Given the description of an element on the screen output the (x, y) to click on. 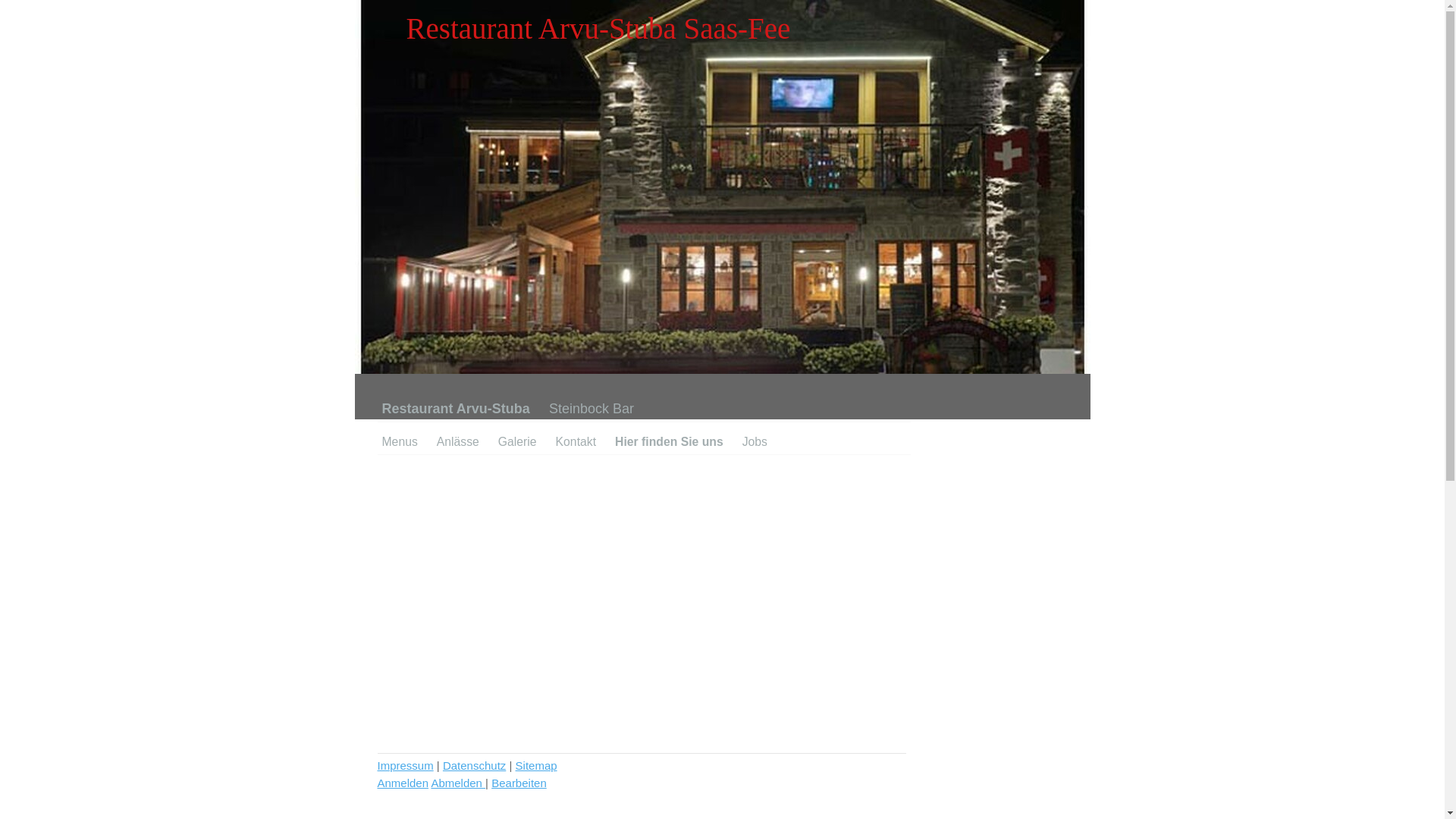
Galerie Element type: text (526, 437)
Jobs Element type: text (764, 437)
Menus Element type: text (409, 437)
Restaurant Arvu-Stuba Element type: text (465, 408)
Abmelden Element type: text (457, 782)
Sitemap Element type: text (536, 765)
Kontakt Element type: text (585, 437)
Steinbock Bar Element type: text (600, 408)
Bearbeiten Element type: text (518, 782)
Restaurant Arvu-Stuba Saas-Fee Element type: text (722, 369)
Anmelden Element type: text (403, 782)
Impressum Element type: text (405, 765)
Hier finden Sie uns Element type: text (678, 437)
Datenschutz Element type: text (473, 765)
